Given the description of an element on the screen output the (x, y) to click on. 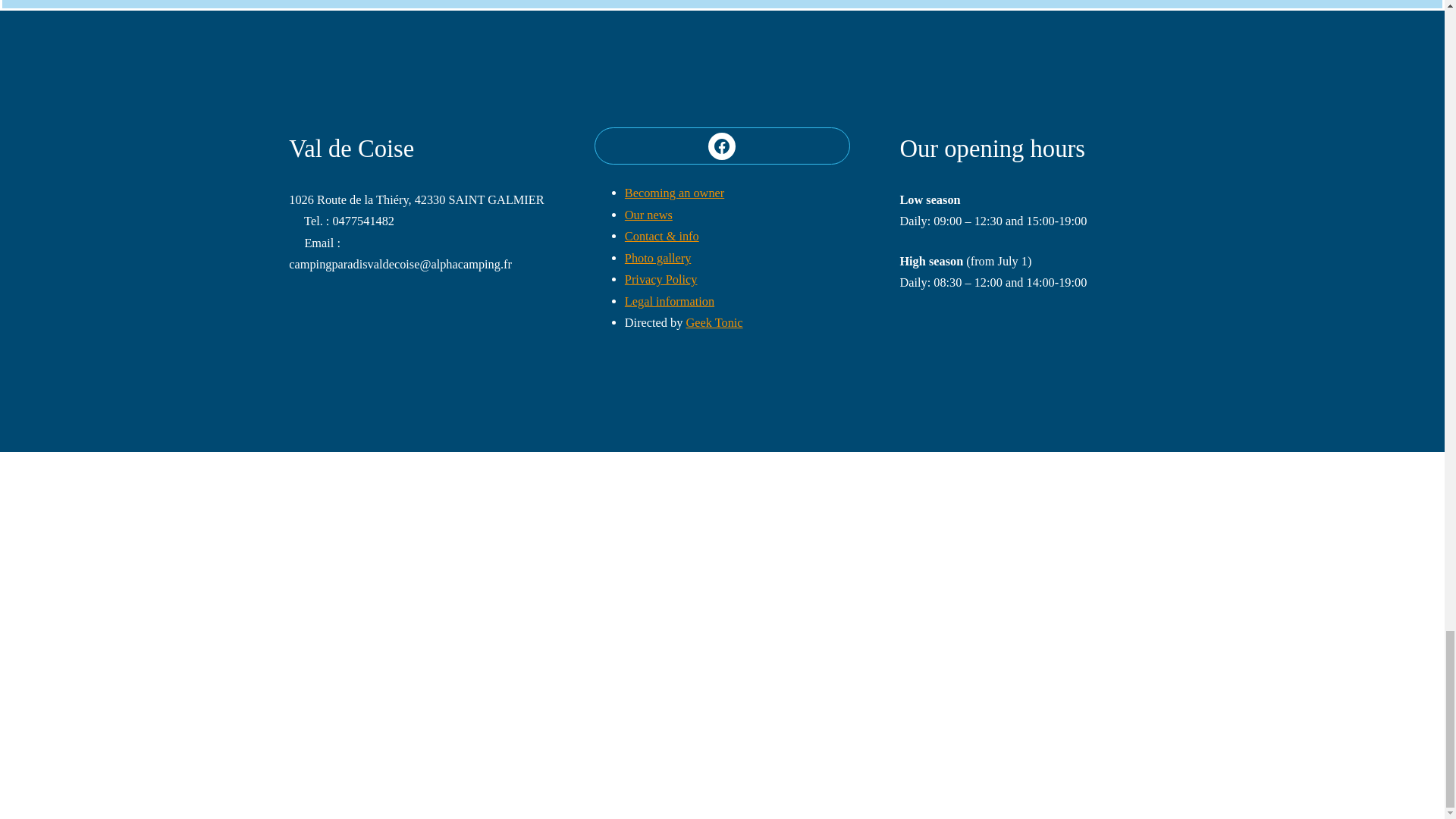
Legal information (669, 301)
Becoming an owner (673, 192)
Geek Tonic (713, 322)
Facebook (721, 145)
Our news (648, 214)
Photo gallery (657, 257)
Privacy Policy (660, 278)
